Given the description of an element on the screen output the (x, y) to click on. 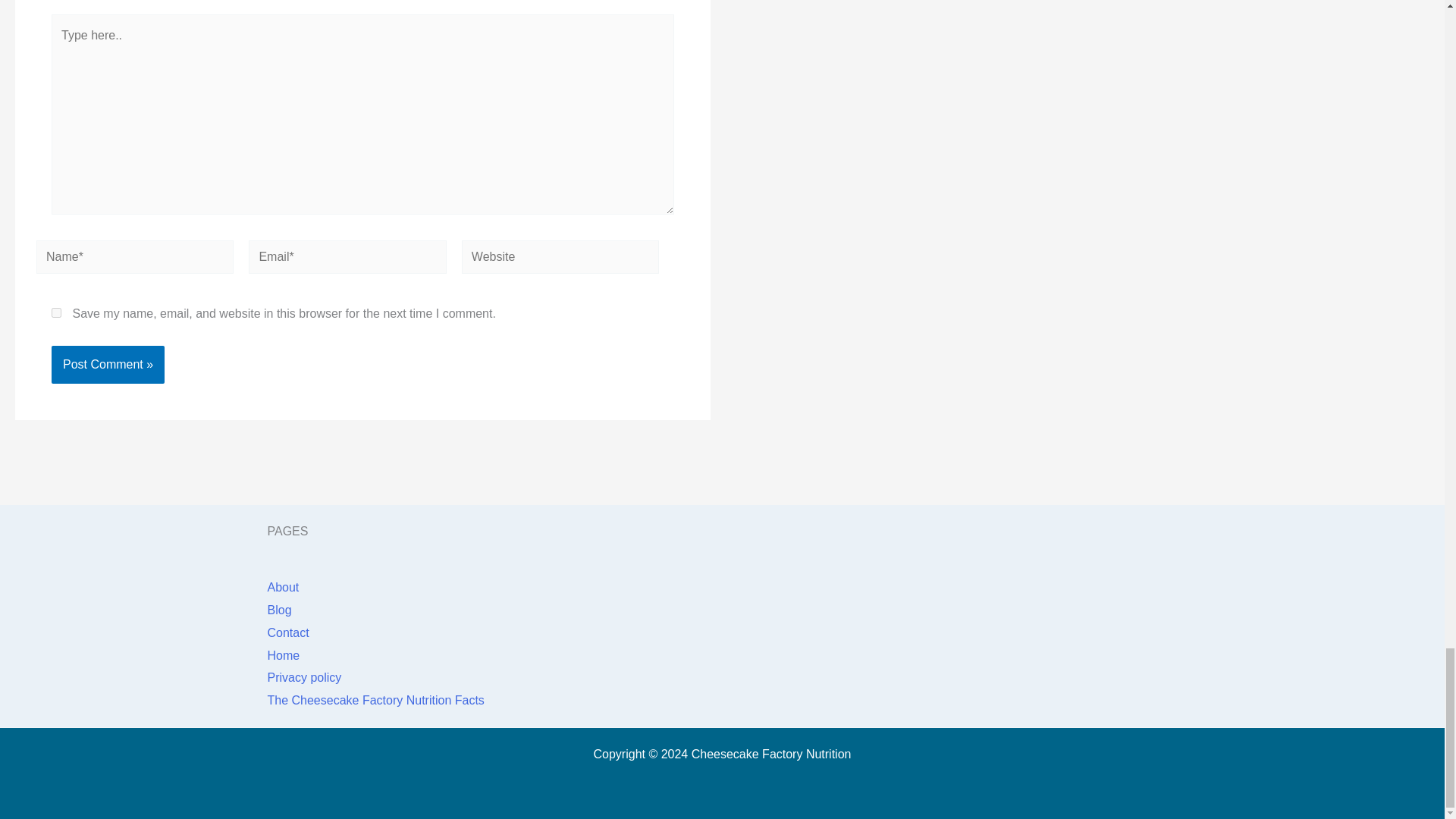
About (282, 586)
Contact (287, 632)
Home (282, 655)
Privacy policy (303, 676)
The Cheesecake Factory Nutrition Facts (374, 699)
yes (55, 312)
Blog (278, 609)
